Given the description of an element on the screen output the (x, y) to click on. 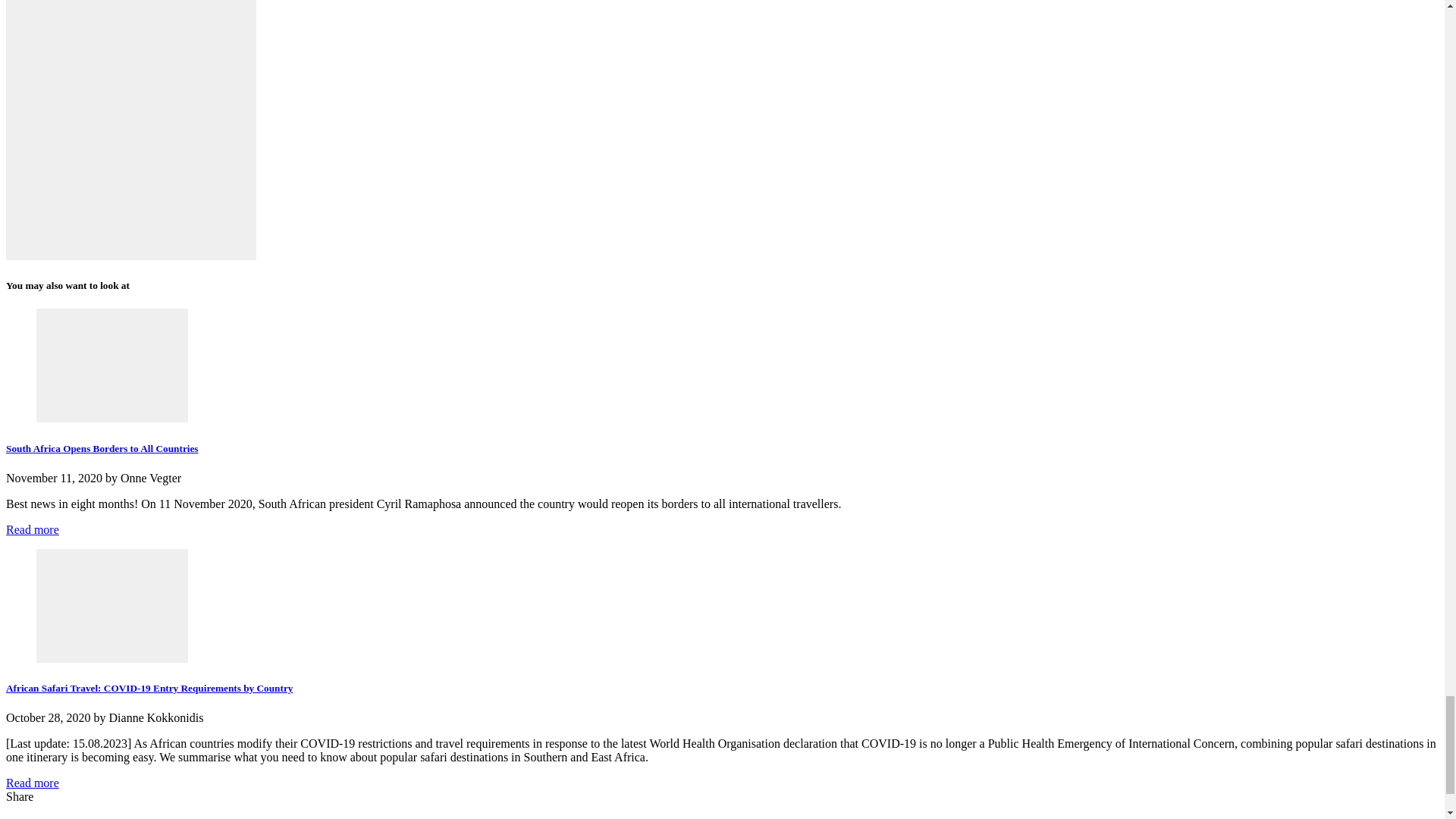
South Africa Opens Borders to All Countries (101, 448)
Read more (32, 529)
